Given the description of an element on the screen output the (x, y) to click on. 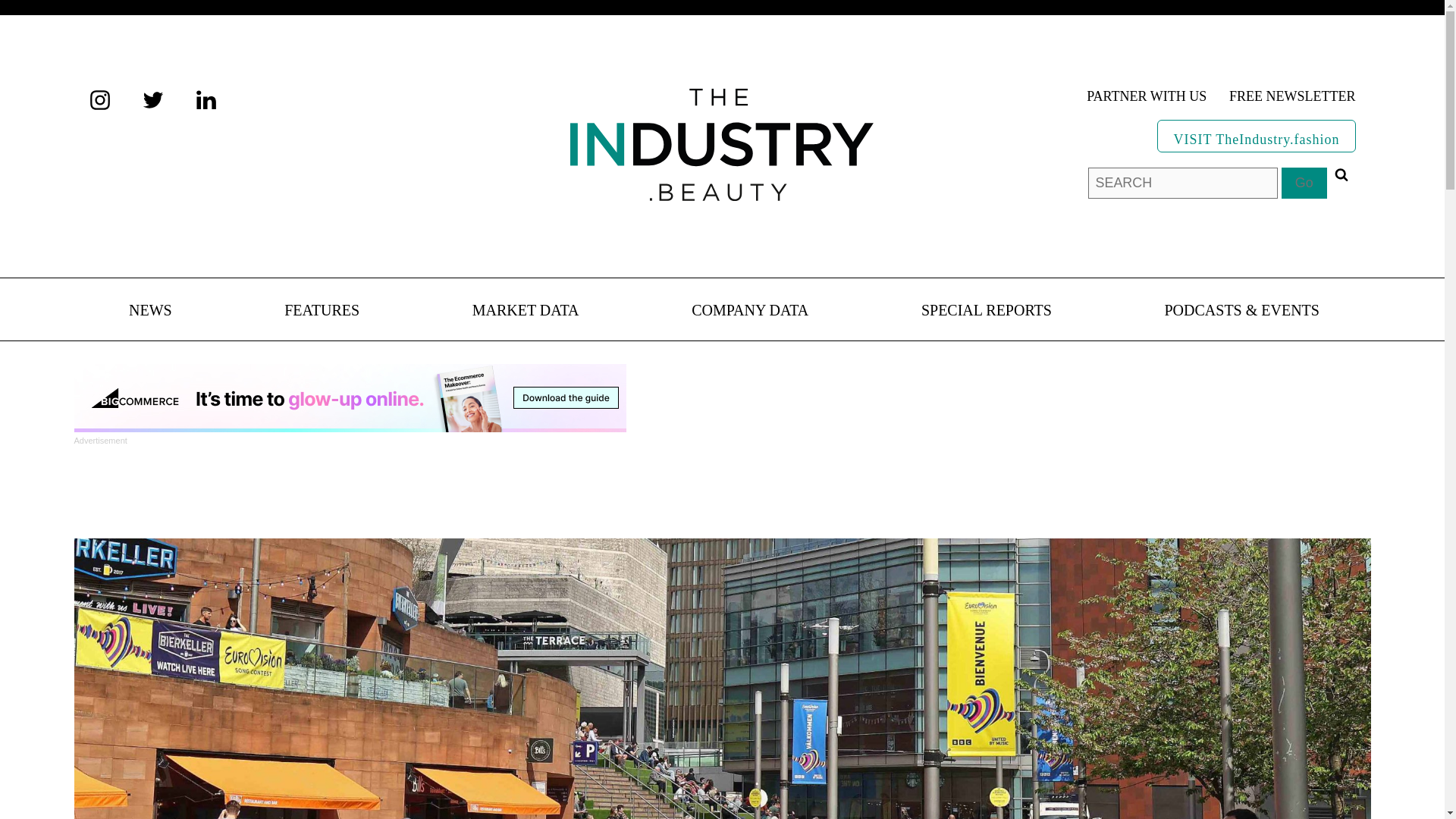
Go (1303, 183)
COMPANY DATA (749, 311)
Go (1303, 183)
PARTNER WITH US (1146, 96)
NEWS (150, 311)
MARKET DATA (525, 311)
VISIT TheIndustry.fashion (1256, 135)
FEATURES (321, 311)
SPECIAL REPORTS (986, 311)
FREE NEWSLETTER (1291, 96)
